Given the description of an element on the screen output the (x, y) to click on. 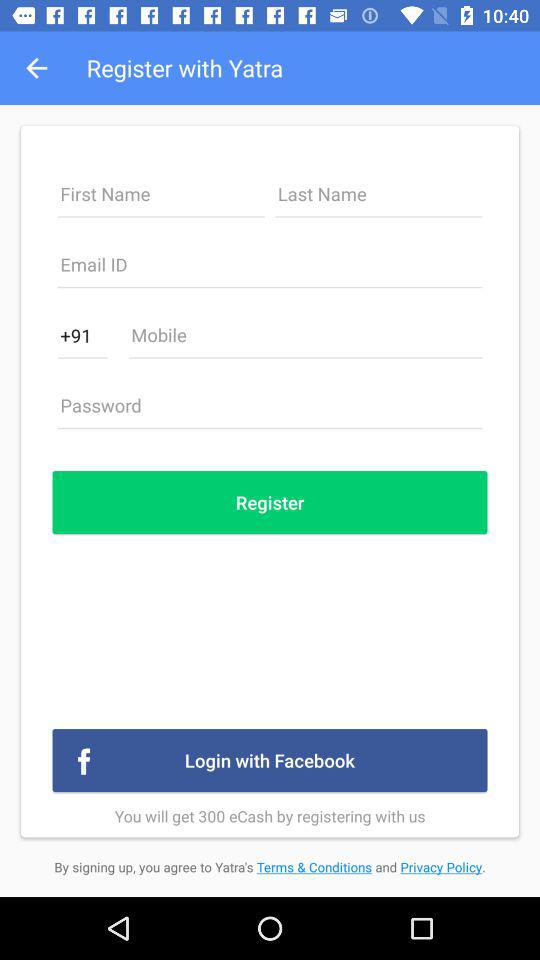
password button (269, 411)
